Given the description of an element on the screen output the (x, y) to click on. 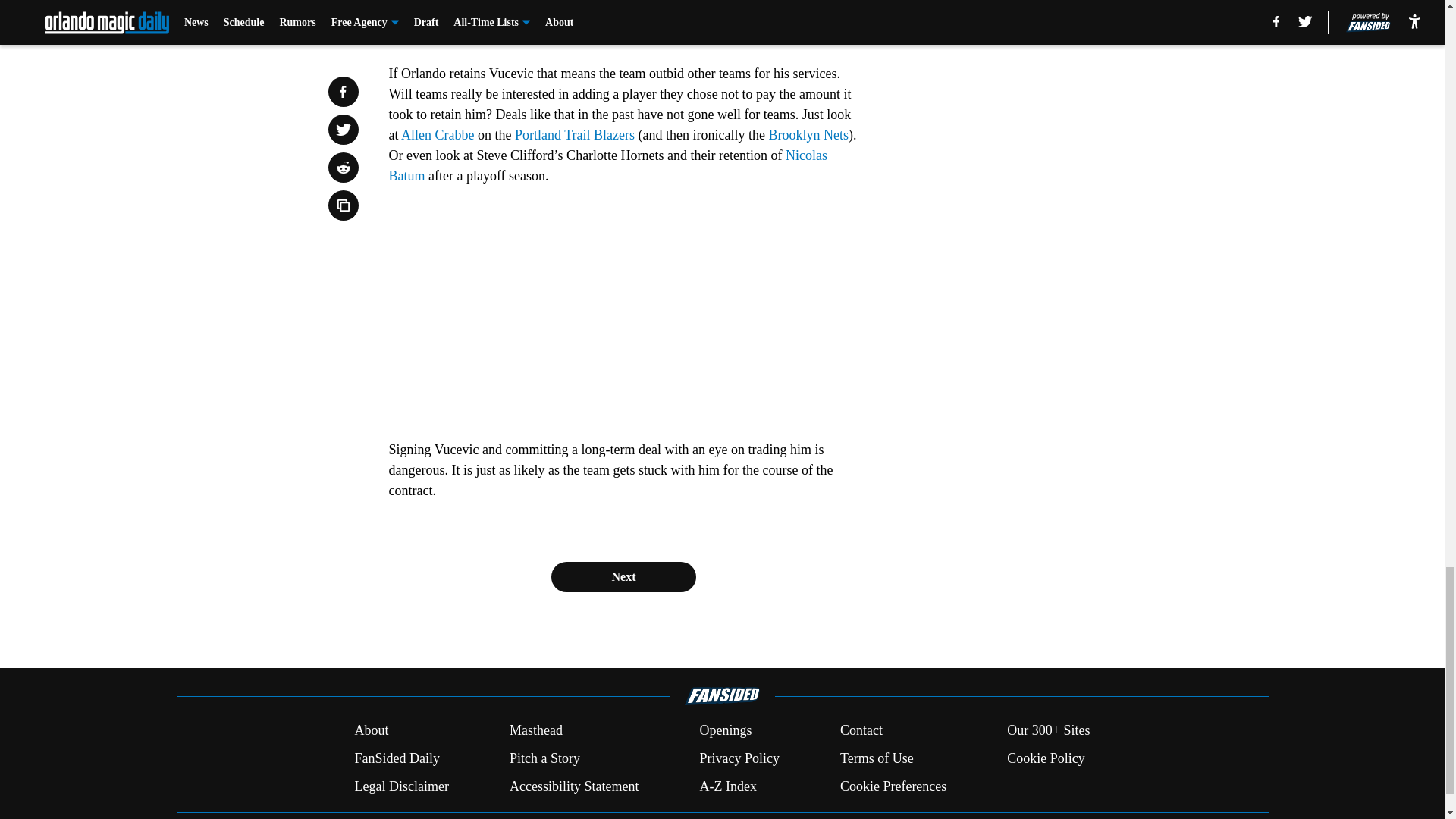
About (370, 730)
Allen Crabbe (437, 134)
Portland Trail Blazers (574, 134)
Nicolas Batum (607, 165)
Brooklyn Nets (808, 134)
Next (622, 576)
